Given the description of an element on the screen output the (x, y) to click on. 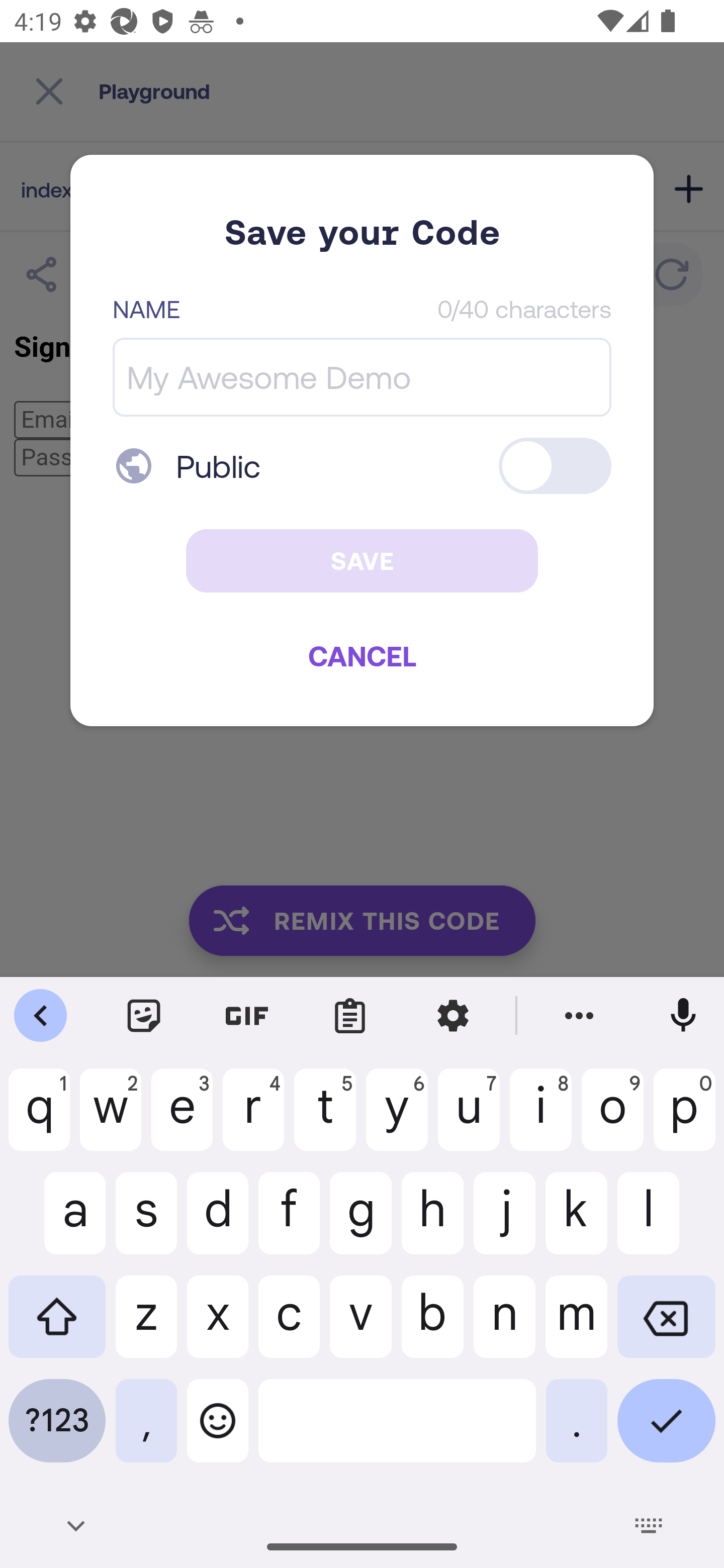
My Awesome Demo (361, 377)
SAVE (361, 560)
CANCEL (361, 655)
